Given the description of an element on the screen output the (x, y) to click on. 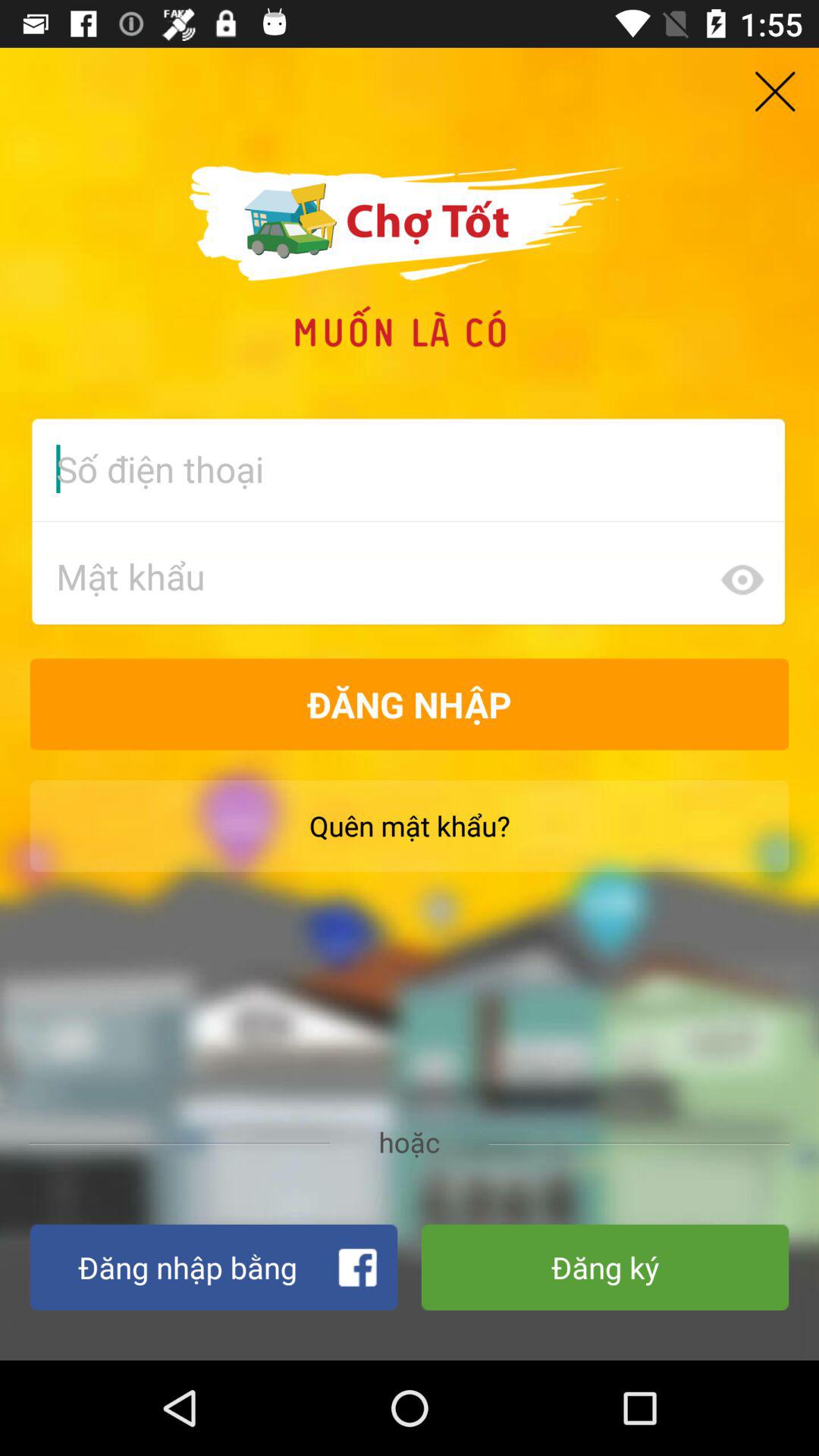
click on the button below the second text field (409, 704)
select the blue color button (213, 1267)
